Given the description of an element on the screen output the (x, y) to click on. 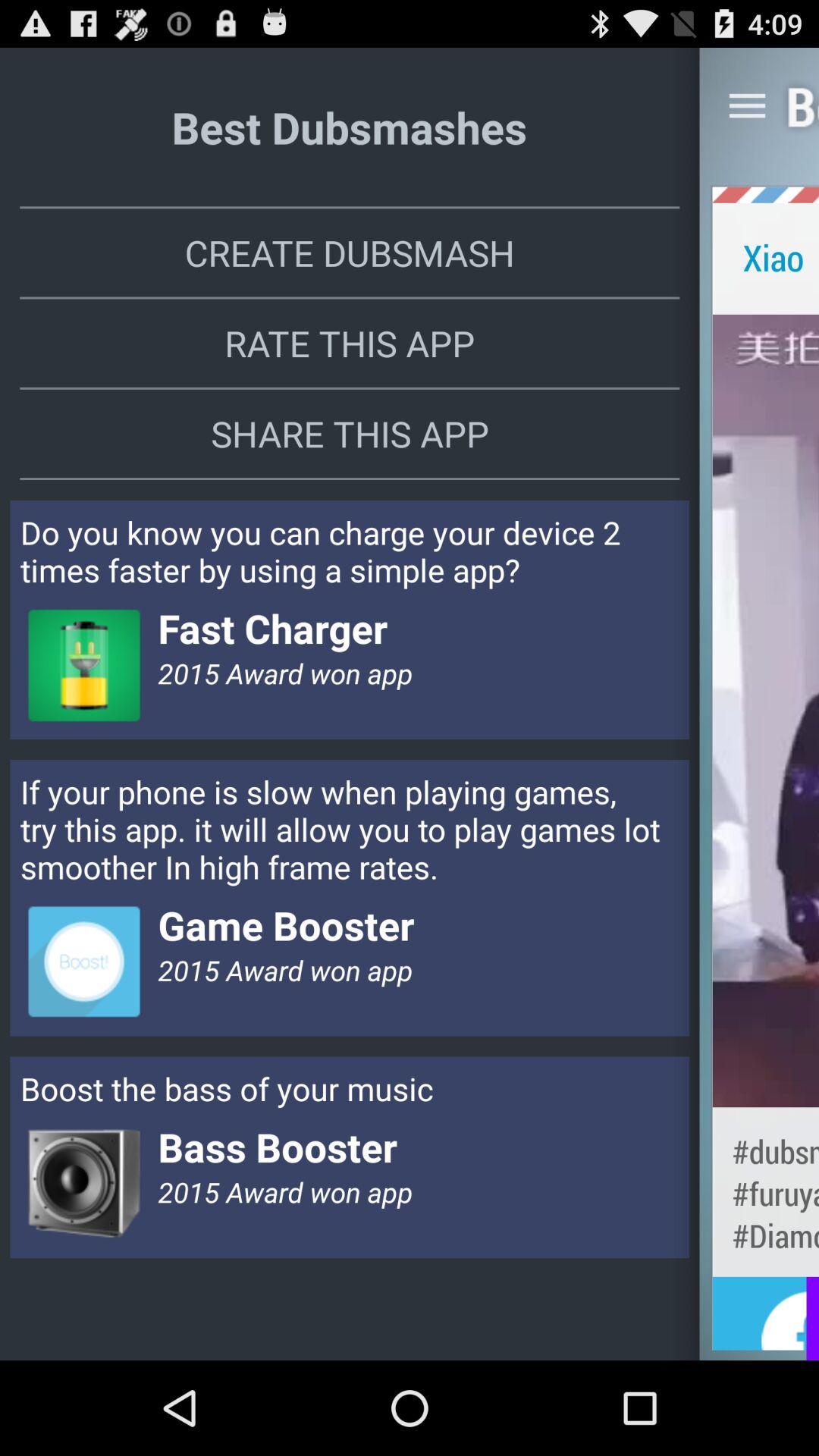
turn on the app next to best dubsmashes item (747, 105)
